Given the description of an element on the screen output the (x, y) to click on. 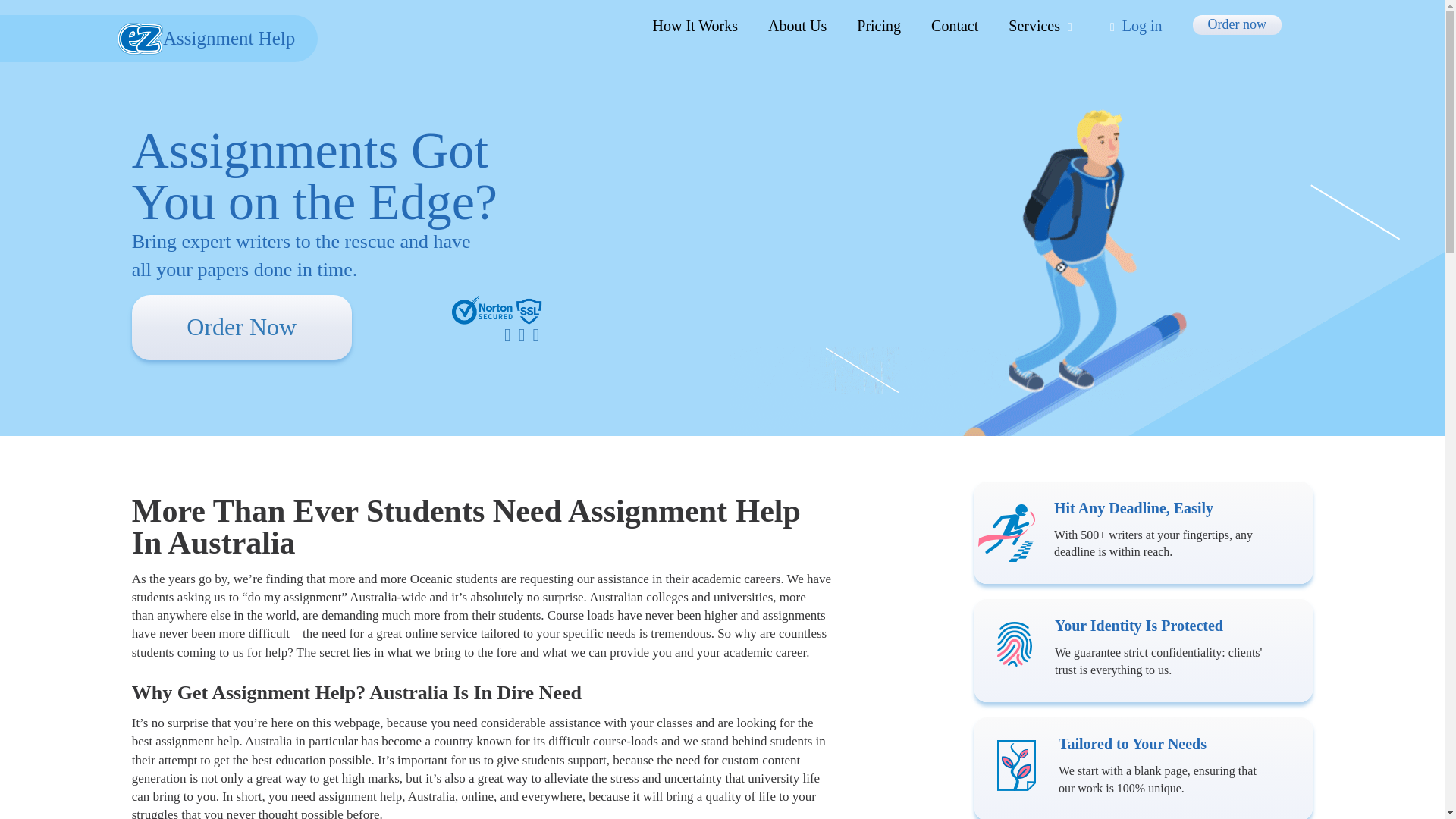
Contact (954, 25)
Pricing (879, 25)
How It Works (695, 25)
Assignment Help (158, 38)
About Us (797, 25)
